Given the description of an element on the screen output the (x, y) to click on. 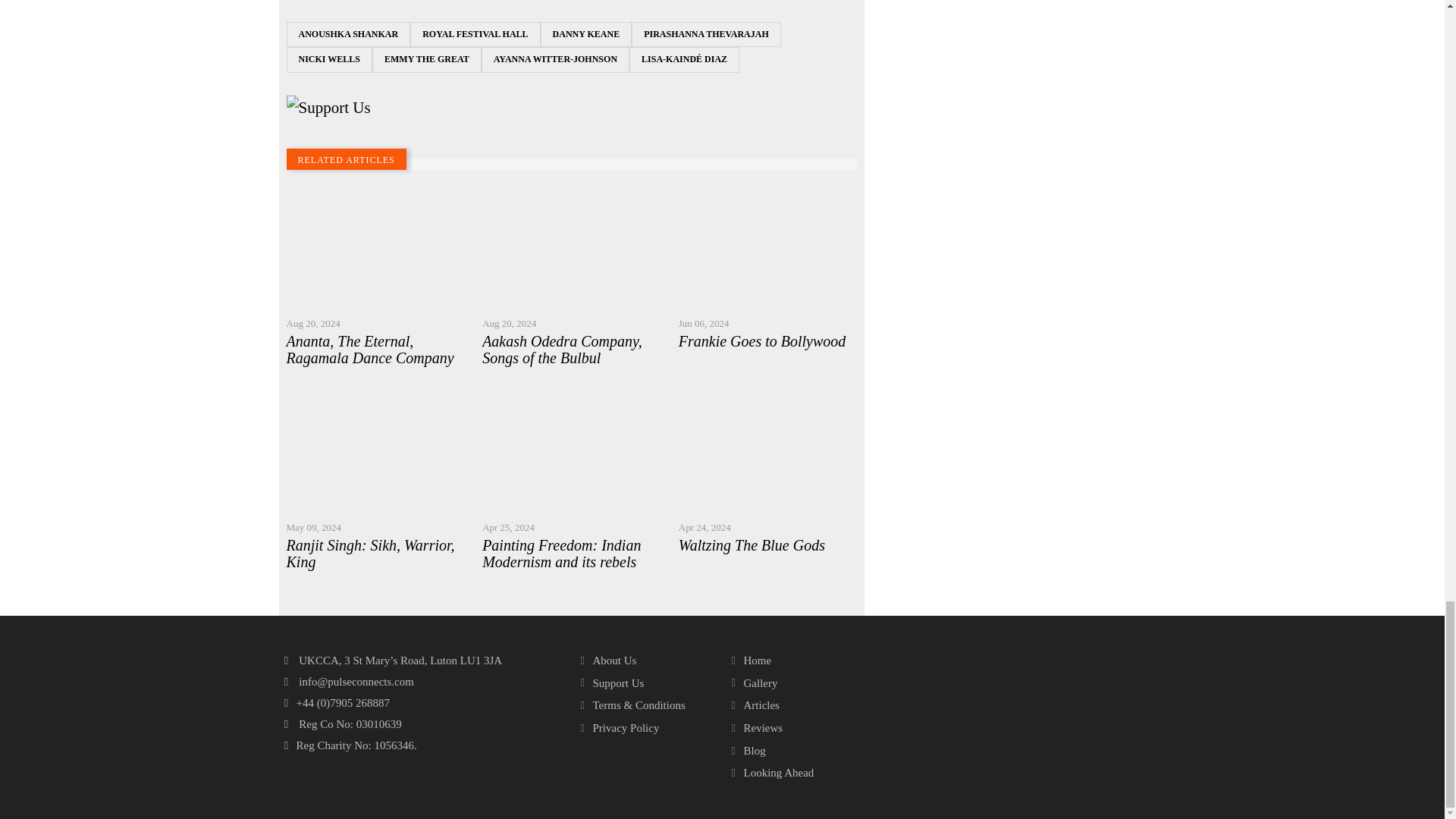
NICKI WELLS (329, 59)
Ananta, The Eternal, Ragamala Dance Company  (375, 349)
ROYAL FESTIVAL HALL (475, 34)
DANNY KEANE (585, 34)
EMMY THE GREAT (426, 59)
AYANNA WITTER-JOHNSON (554, 59)
ANOUSHKA SHANKAR (348, 34)
PIRASHANNA THEVARAJAH (705, 34)
